Given the description of an element on the screen output the (x, y) to click on. 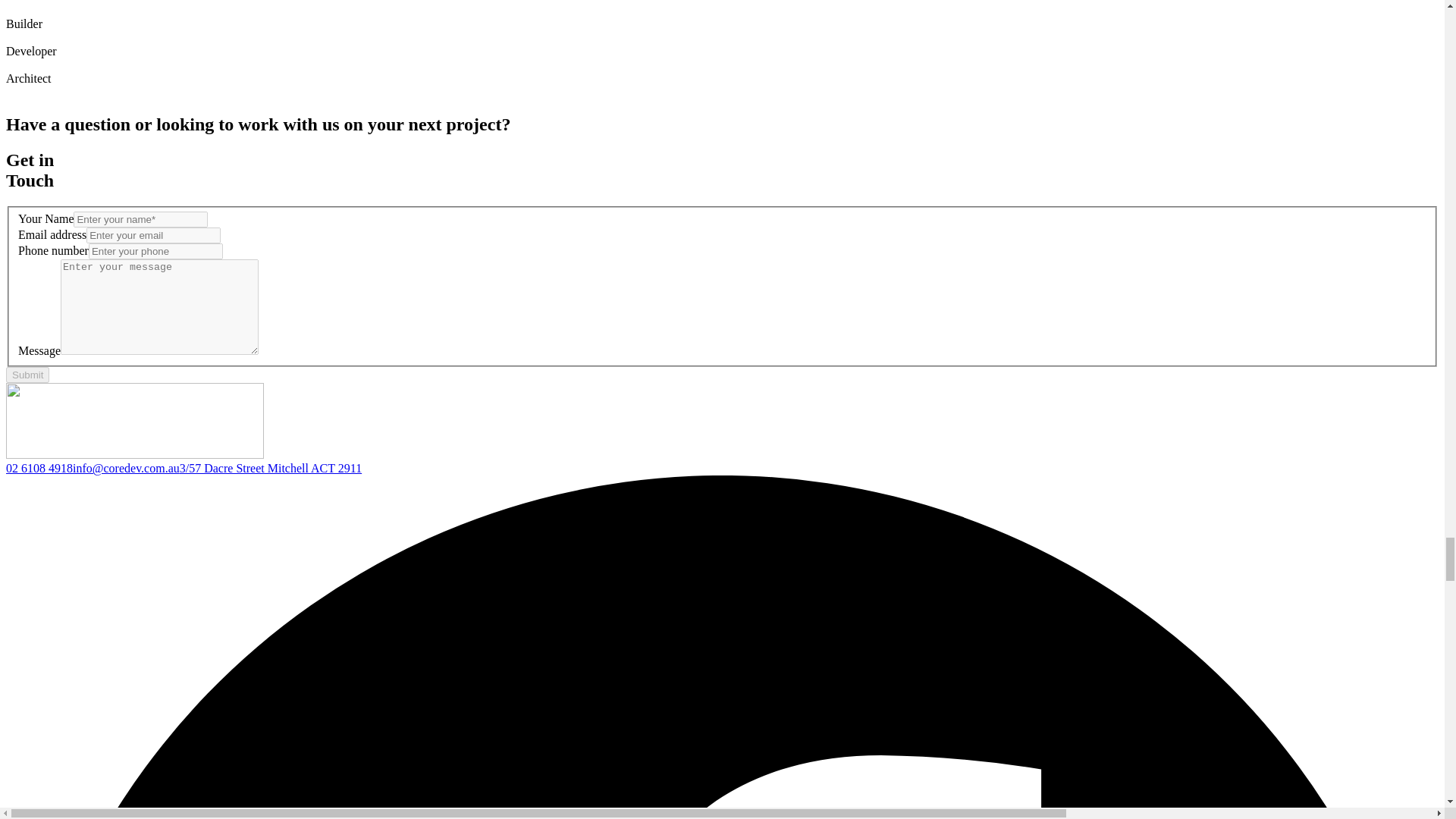
Submit (27, 374)
02 6108 4918 (38, 468)
